Given the description of an element on the screen output the (x, y) to click on. 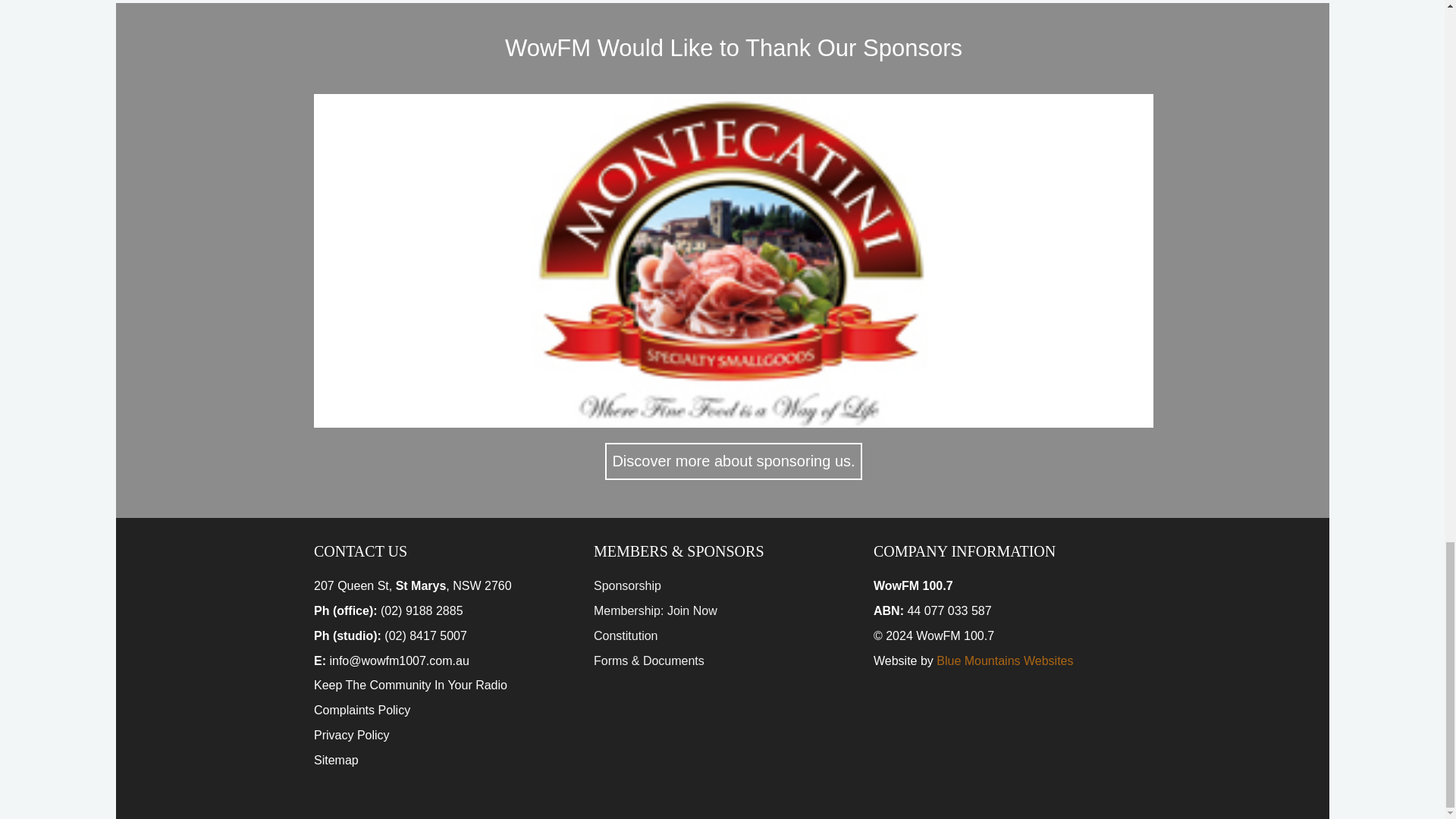
Complaints Policy (362, 709)
Sponsorship (627, 585)
Membership: Join Now (655, 610)
Privacy Policy (352, 735)
Discover more about sponsoring us. (733, 461)
Constitution (626, 635)
Constitution (626, 635)
Sponsorship (627, 585)
WowFM 100.7 (954, 635)
Membership: Join Now (655, 610)
Keep The Community In Your Radio (410, 684)
Sitemap (336, 759)
Blue Mountains Websites (1004, 660)
